Given the description of an element on the screen output the (x, y) to click on. 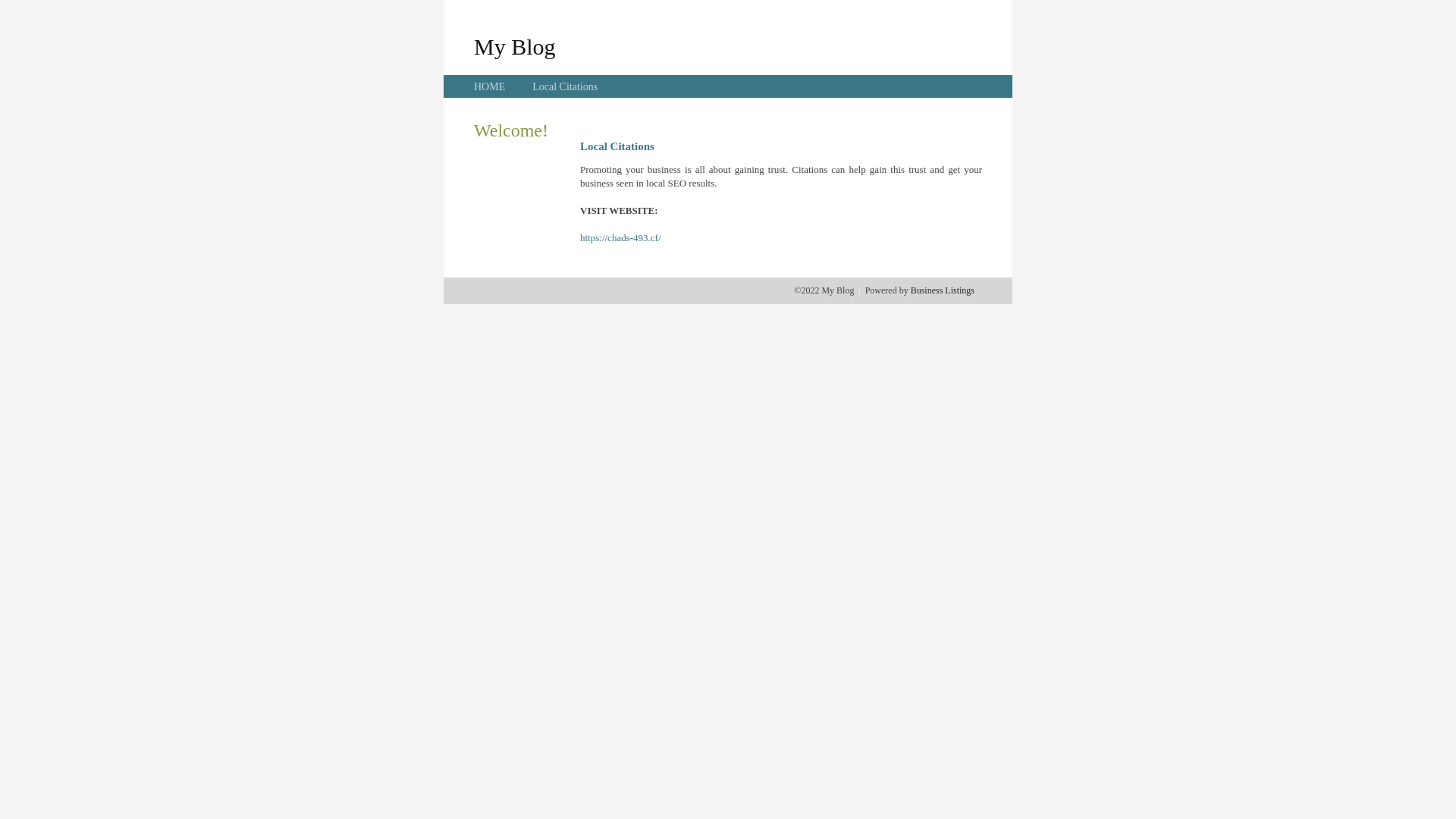
Local Citations Element type: text (564, 86)
HOME Element type: text (489, 86)
My Blog Element type: text (514, 46)
https://chads-493.cf/ Element type: text (620, 237)
Business Listings Element type: text (942, 290)
